Given the description of an element on the screen output the (x, y) to click on. 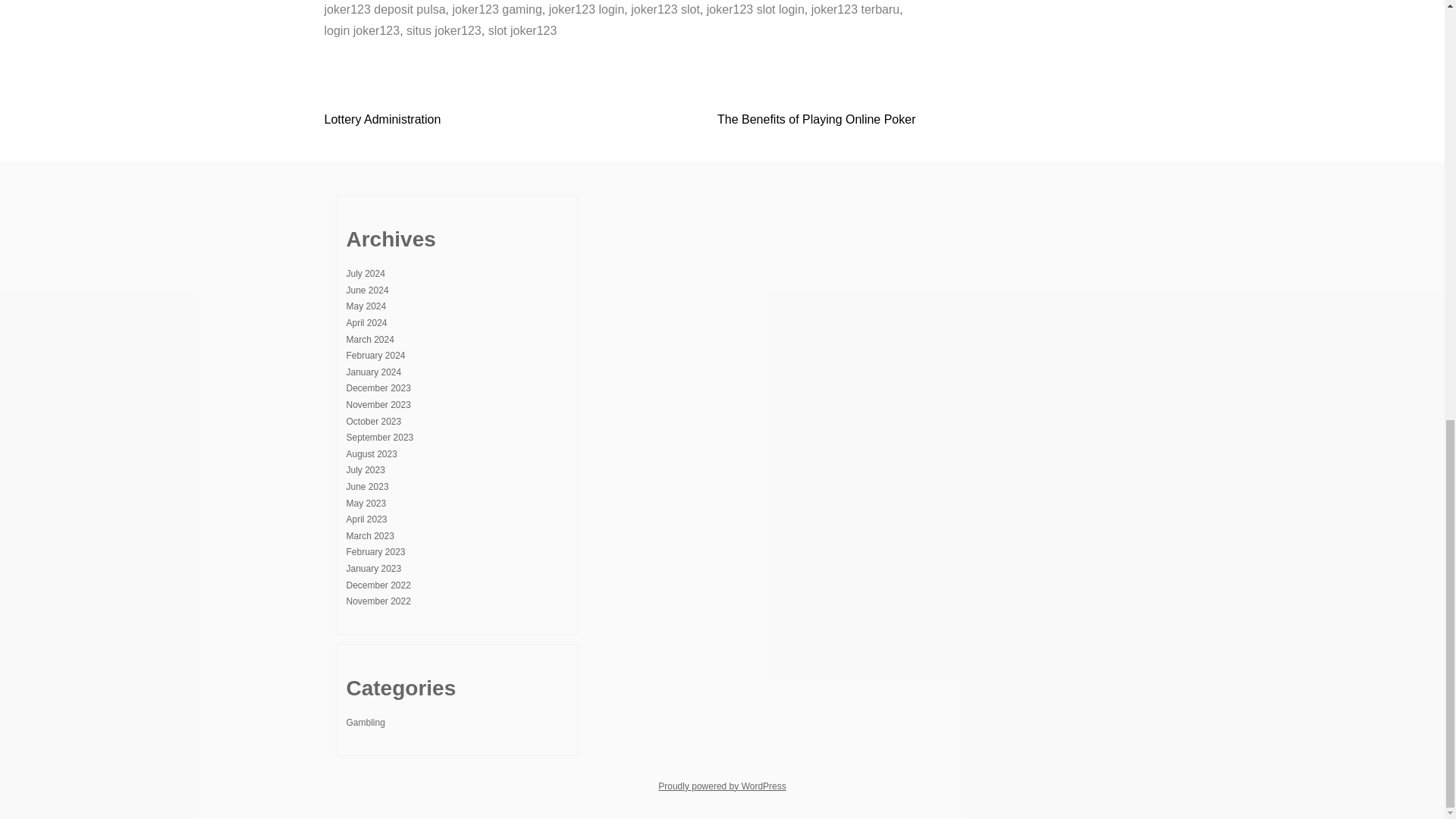
slot joker123 (522, 30)
The Benefits of Playing Online Poker (816, 119)
joker123 terbaru (854, 9)
situs joker123 (443, 30)
login joker123 (362, 30)
joker123 slot login (755, 9)
joker123 login (586, 9)
May 2024 (365, 306)
Lottery Administration (382, 119)
joker123 gaming (496, 9)
July 2024 (365, 273)
June 2024 (367, 290)
joker123 deposit pulsa (384, 9)
joker123 slot (665, 9)
